Given the description of an element on the screen output the (x, y) to click on. 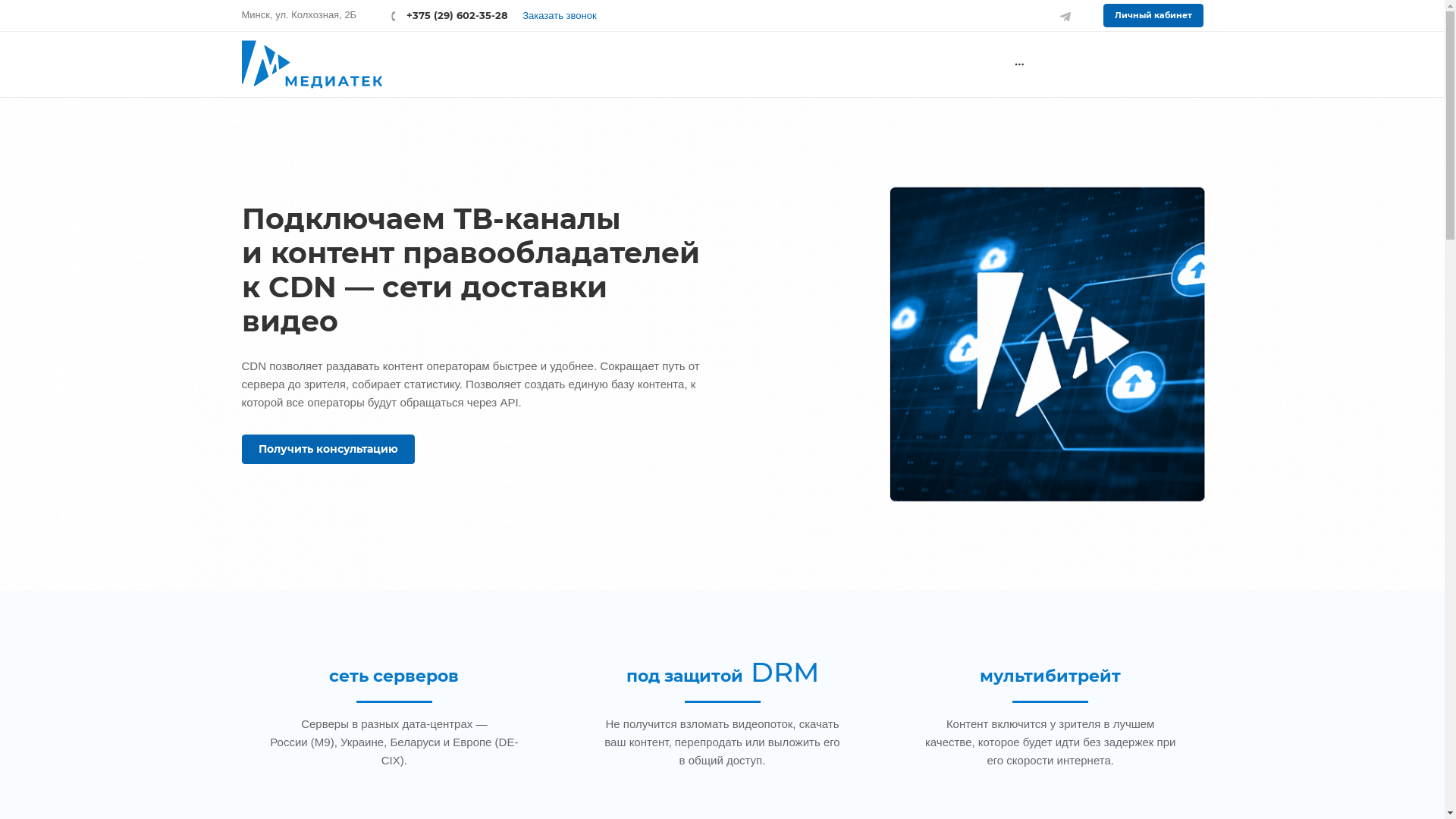
Telegram Element type: hover (1065, 14)
+375 (29) 602-35-28 Element type: text (449, 15)
